Given the description of an element on the screen output the (x, y) to click on. 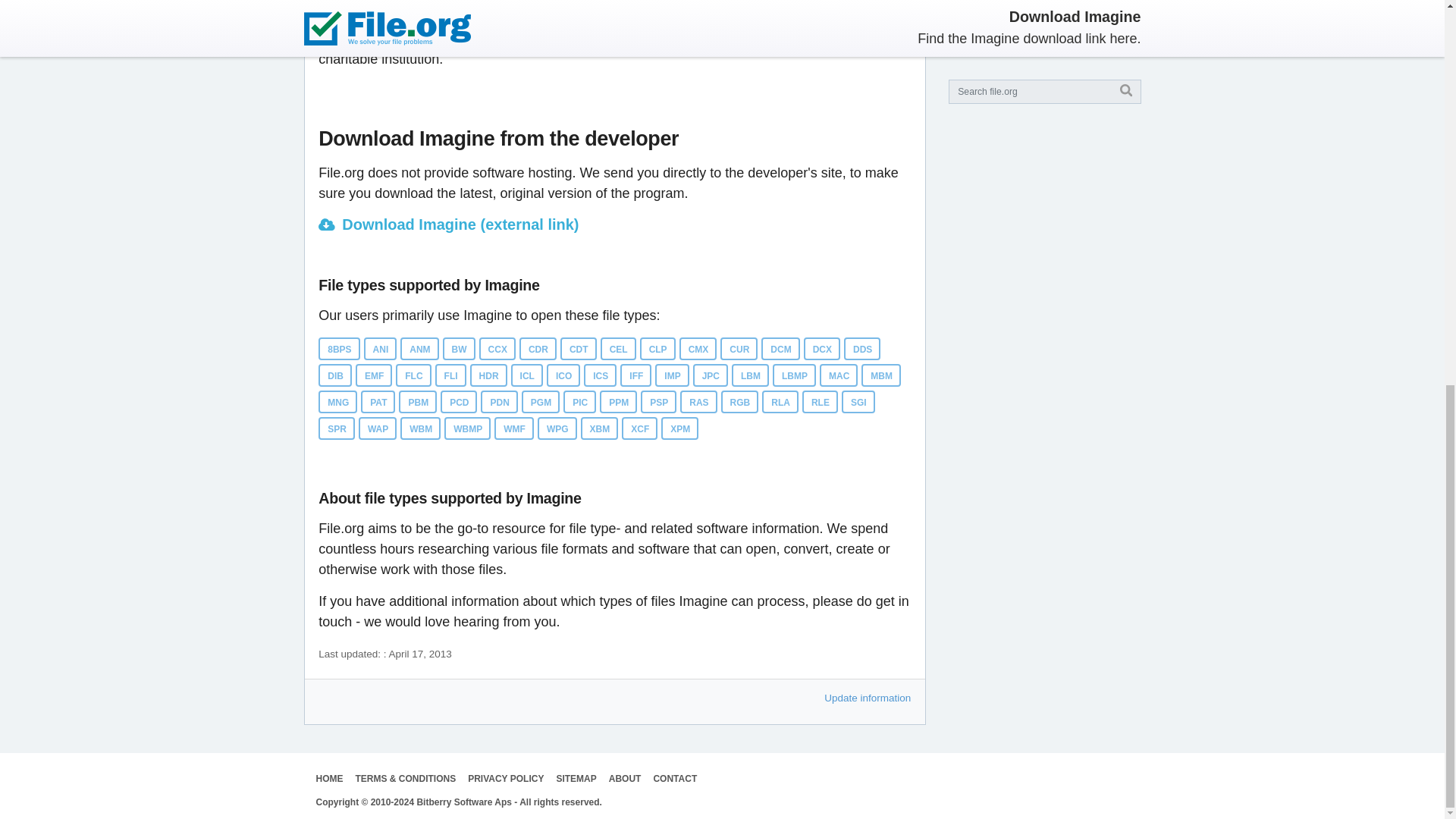
FLC (413, 374)
ICS (599, 374)
PCD (459, 401)
ICO (563, 374)
PDN (498, 401)
HDR (488, 374)
LBM (750, 374)
ANM (419, 348)
DCX (821, 348)
MBM (881, 374)
